Given the description of an element on the screen output the (x, y) to click on. 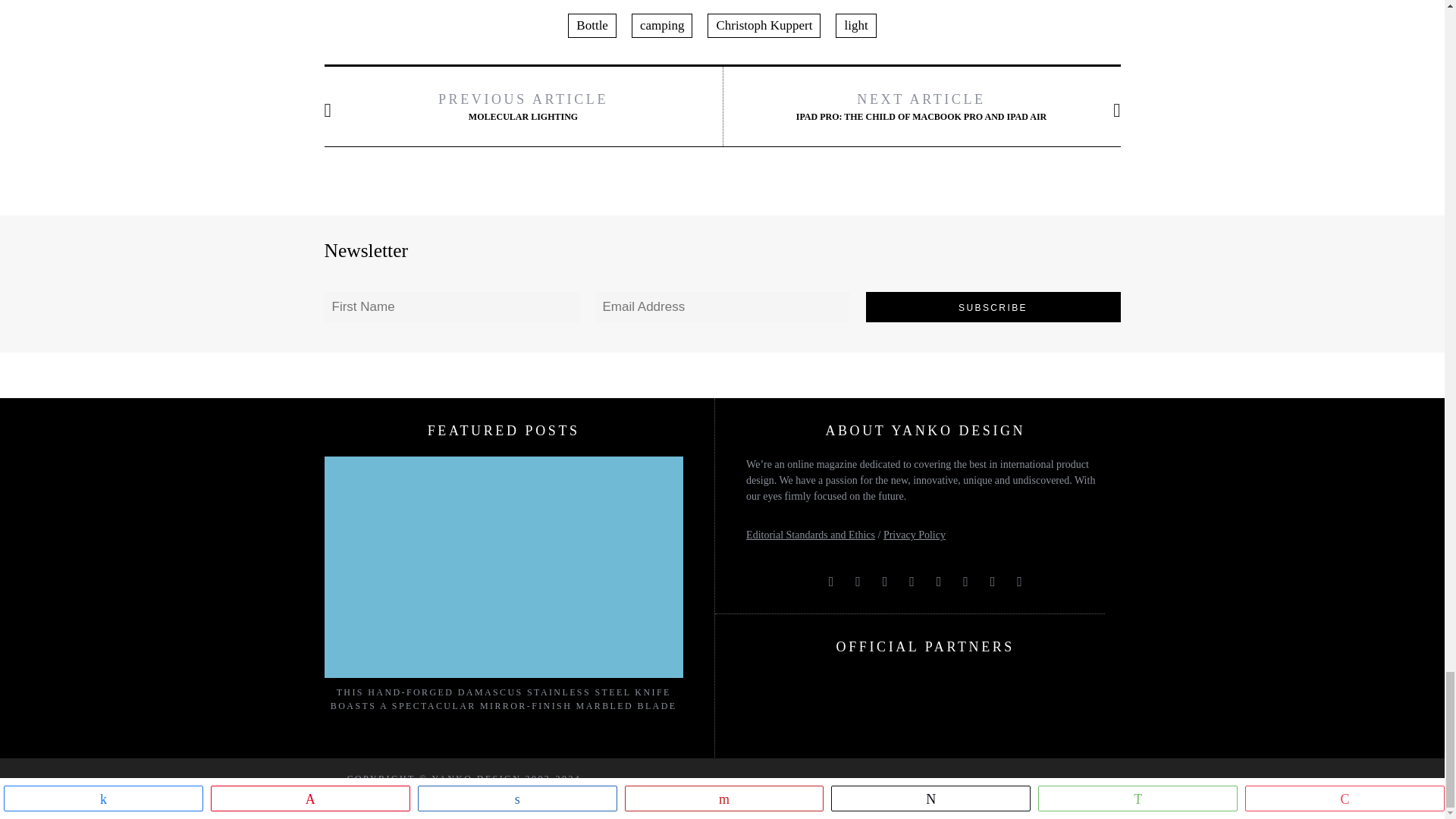
Subscribe (993, 306)
Privacy Policy (913, 534)
Editorial Standards and Ethics (810, 534)
